Given the description of an element on the screen output the (x, y) to click on. 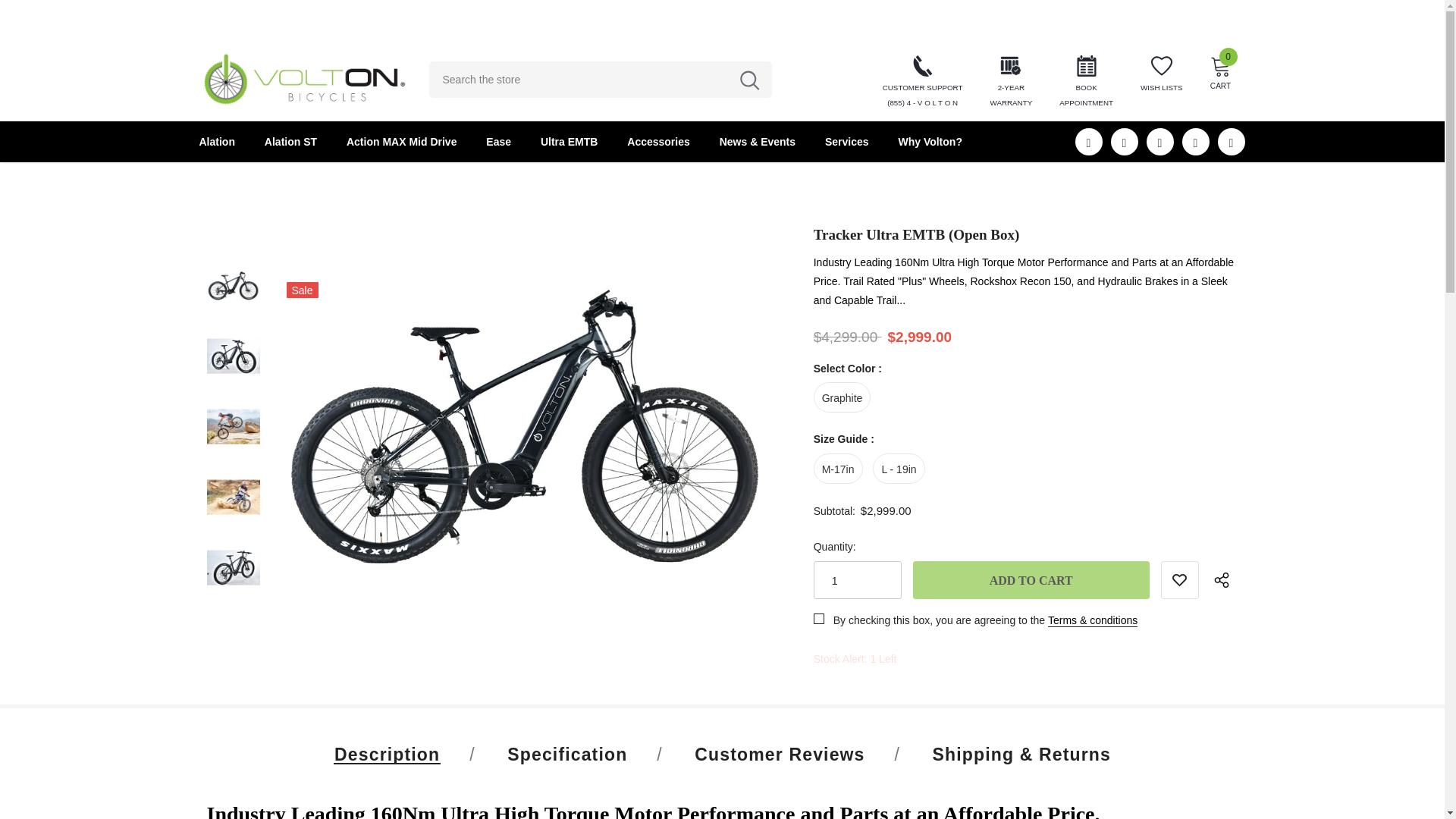
Logo (1086, 82)
Action MAX Mid Drive (304, 79)
Accessories (401, 140)
Alation (658, 140)
Why Volton? (216, 140)
Alation ST (930, 140)
Add to cart (290, 140)
WISH LISTS (1031, 579)
Ultra EMTB (1161, 74)
